Given the description of an element on the screen output the (x, y) to click on. 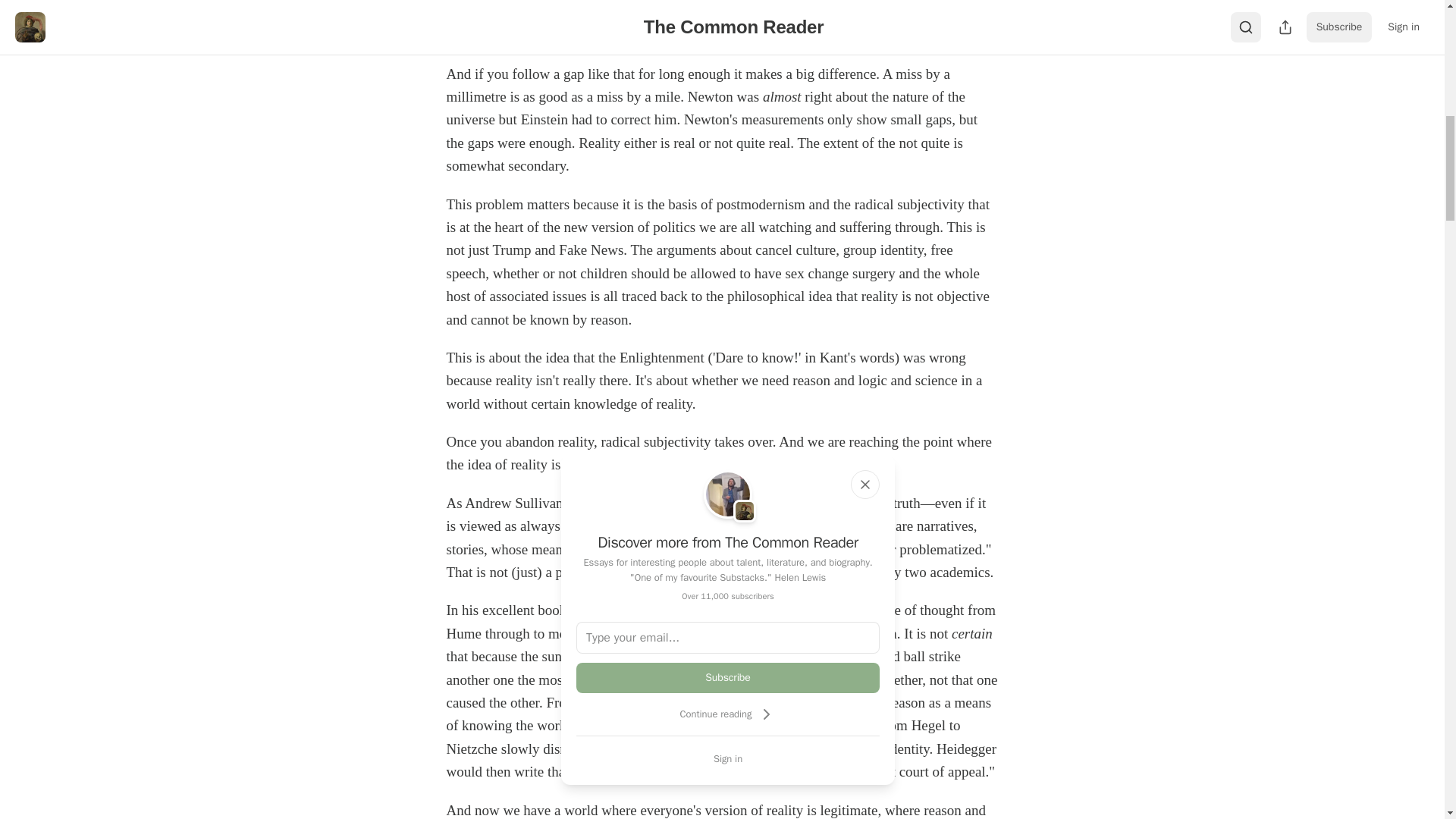
describing post-modernism (675, 503)
Sign in (727, 758)
Subscribe (727, 677)
